Given the description of an element on the screen output the (x, y) to click on. 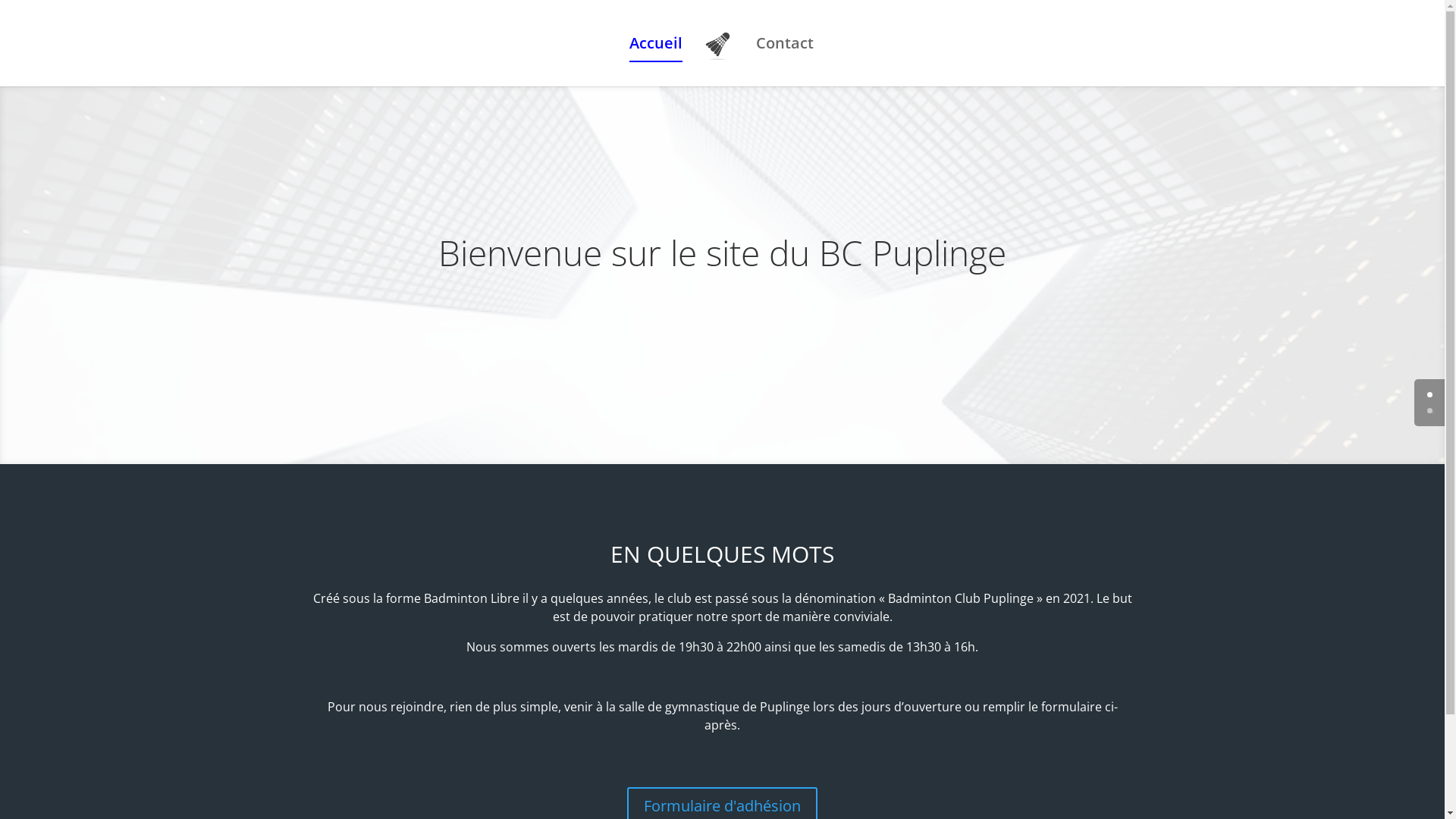
Contact Element type: text (784, 61)
0 Element type: text (1429, 394)
Accueil Element type: text (655, 61)
1 Element type: text (1429, 410)
